Given the description of an element on the screen output the (x, y) to click on. 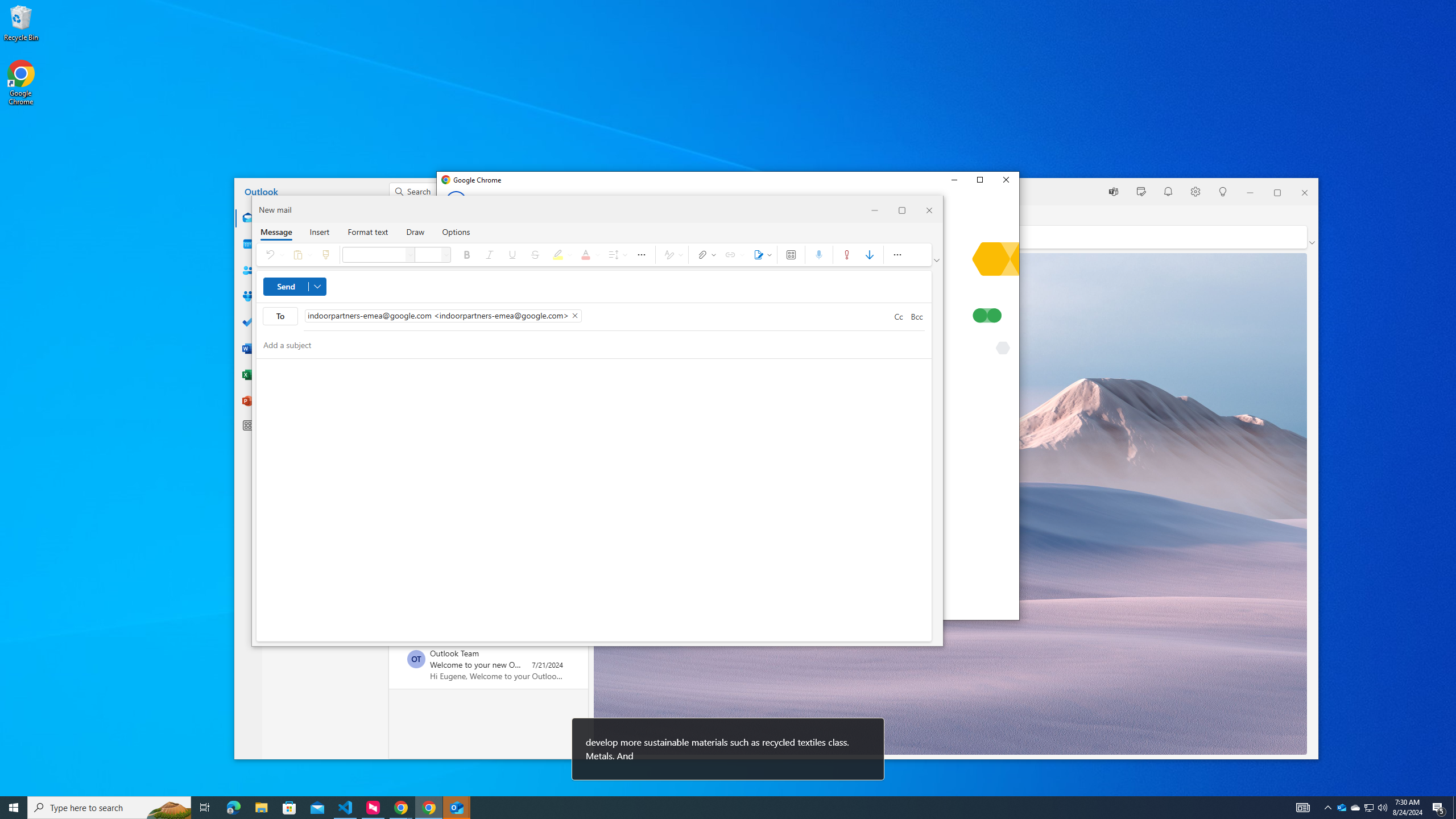
Task View (204, 807)
File Explorer (261, 807)
Search highlights icon opens search home window (167, 807)
Microsoft Store (289, 807)
